Given the description of an element on the screen output the (x, y) to click on. 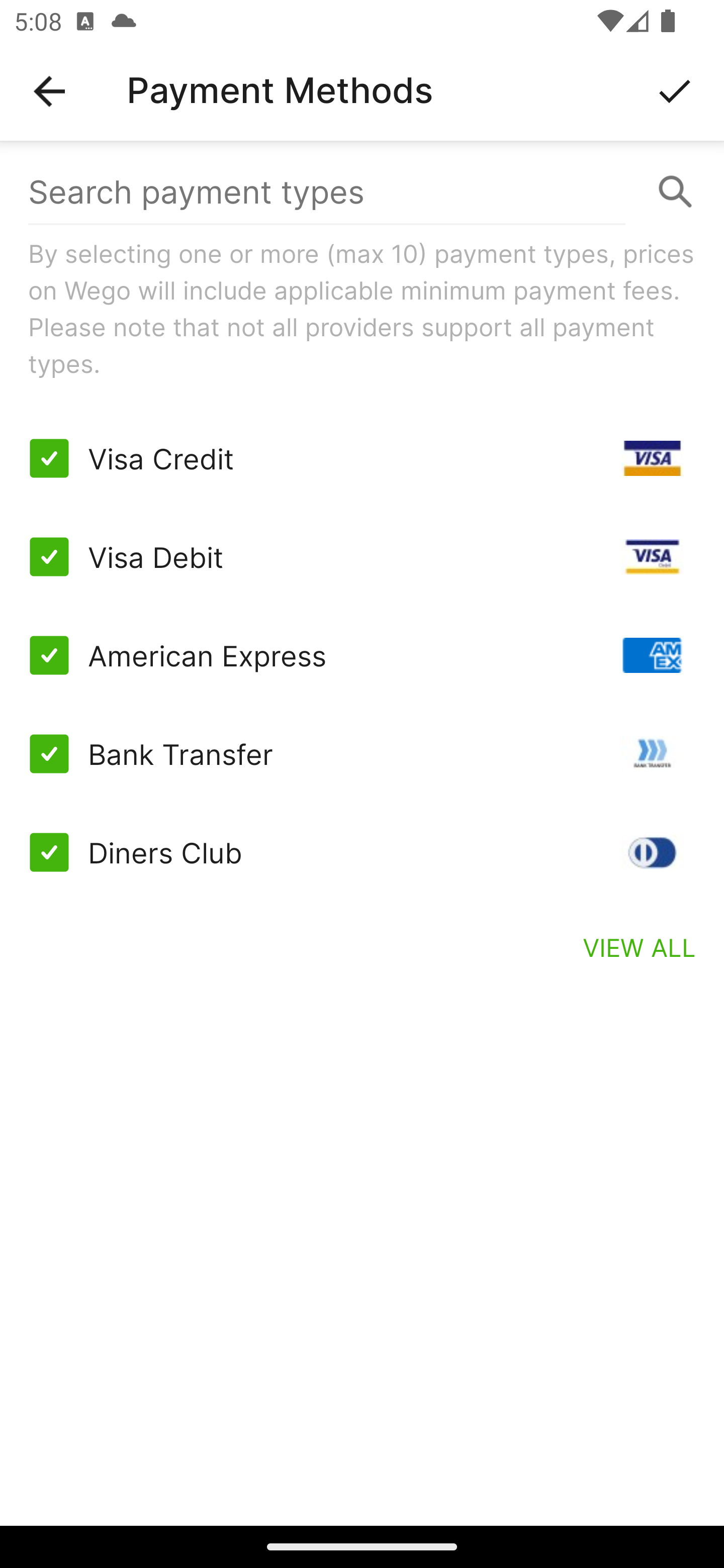
Search payment types  (361, 191)
Visa Credit (362, 458)
Visa Debit (362, 557)
American Express (362, 655)
Bank Transfer (362, 753)
Diners Club (362, 851)
VIEW ALL (639, 946)
